Given the description of an element on the screen output the (x, y) to click on. 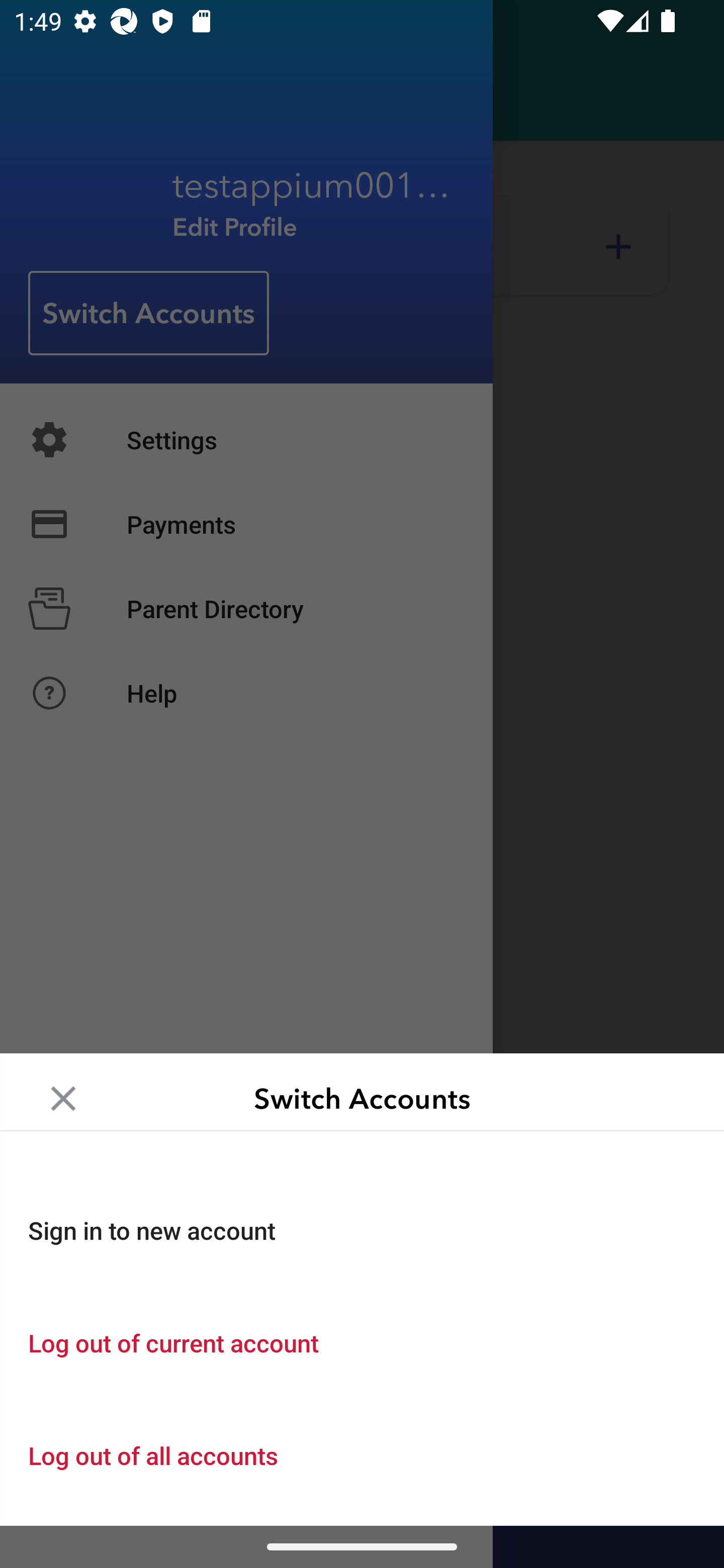
Sign in to new account (361, 1230)
Log out of current account (361, 1341)
Log out of all accounts (361, 1454)
